Given the description of an element on the screen output the (x, y) to click on. 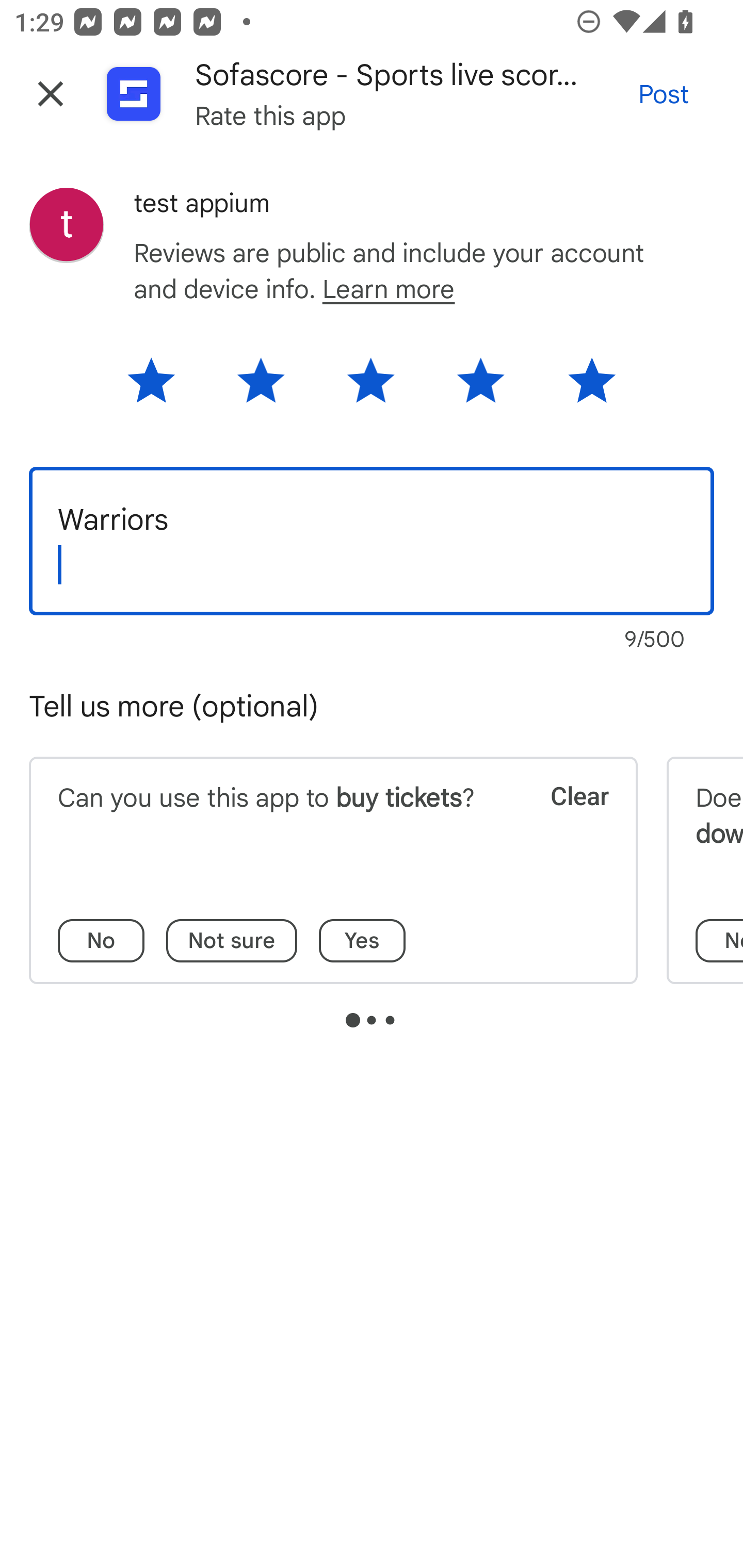
Close (50, 93)
Post (663, 93)
First star selected (163, 387)
Second star selected (260, 387)
Third star selected (370, 387)
Fourth star selected (480, 387)
Fifth star selected (577, 387)
Warriors
 (371, 540)
Clear (565, 821)
No (100, 940)
Not sure (231, 940)
Yes (361, 940)
